Given the description of an element on the screen output the (x, y) to click on. 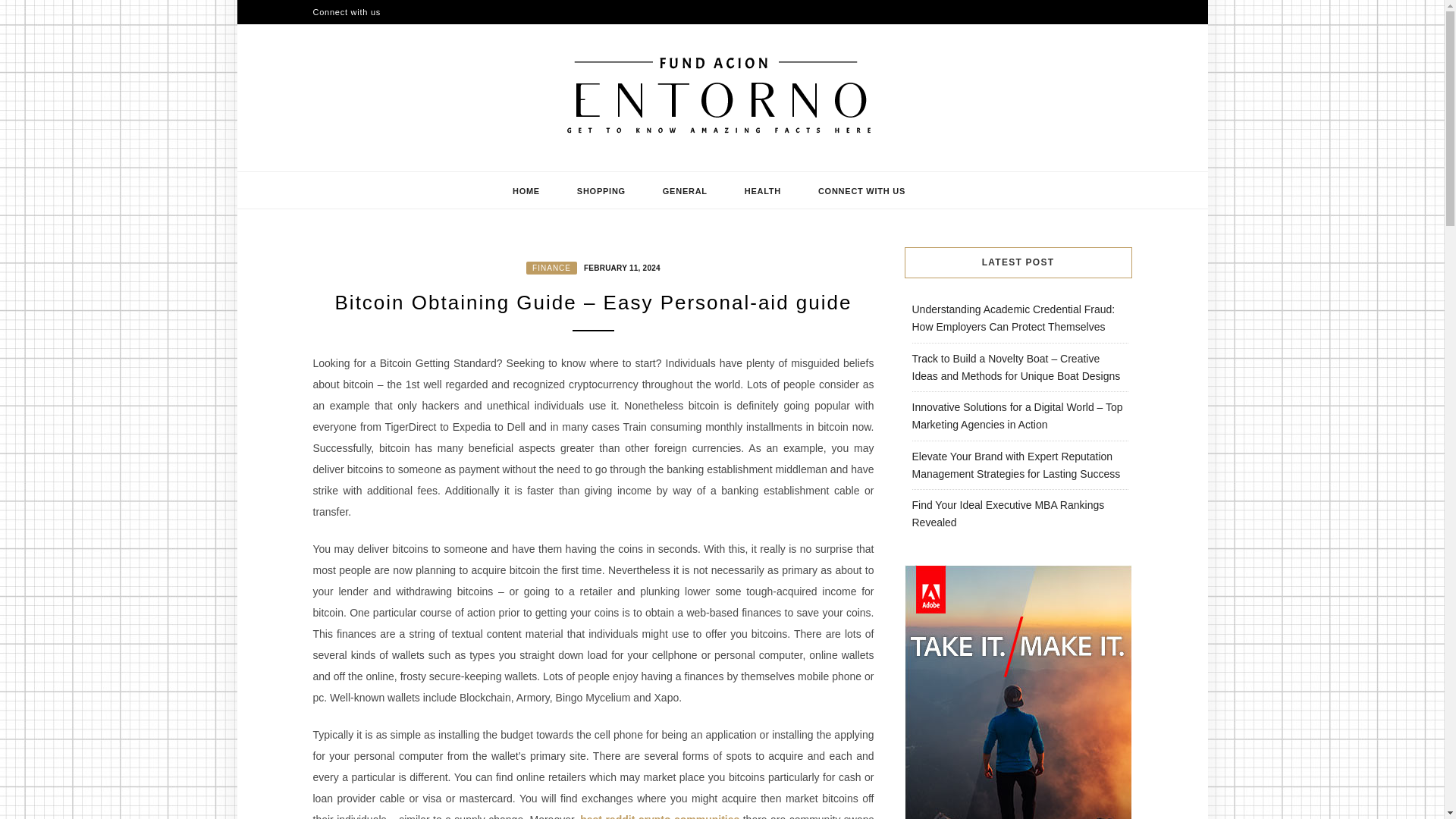
Connect with us (346, 12)
best reddit crypto communities (659, 816)
GENERAL (685, 190)
HOME (525, 190)
FEBRUARY 11, 2024 (620, 266)
SHOPPING (600, 190)
CONNECT WITH US (860, 190)
Find Your Ideal Executive MBA Rankings Revealed (1007, 513)
HEALTH (762, 190)
FINANCE (550, 267)
FUND ACION ENTORNO (497, 164)
